Given the description of an element on the screen output the (x, y) to click on. 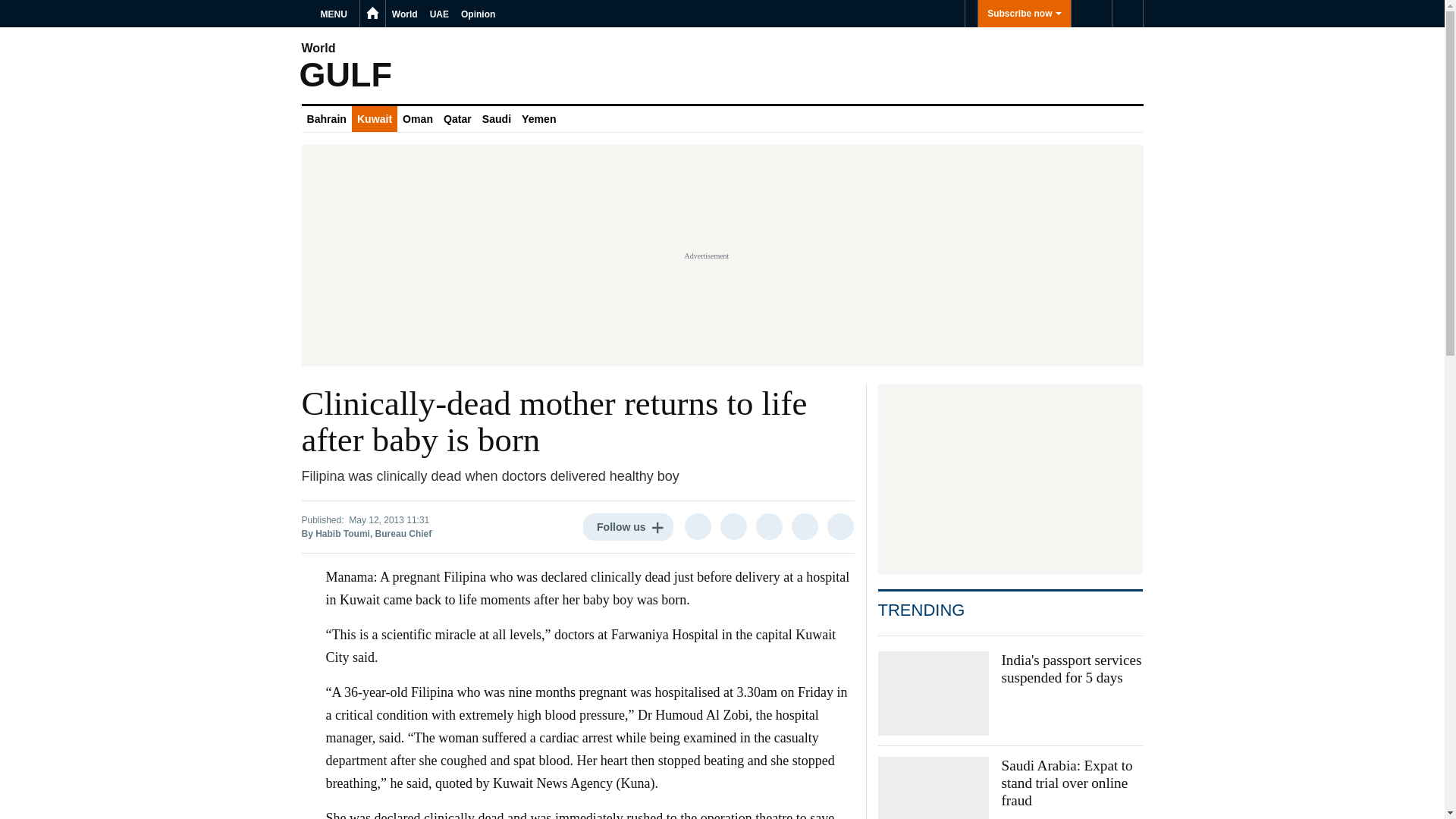
UAE (438, 13)
Subscribe now (1024, 13)
World (404, 13)
MENU (336, 13)
Opinion (477, 13)
